Given the description of an element on the screen output the (x, y) to click on. 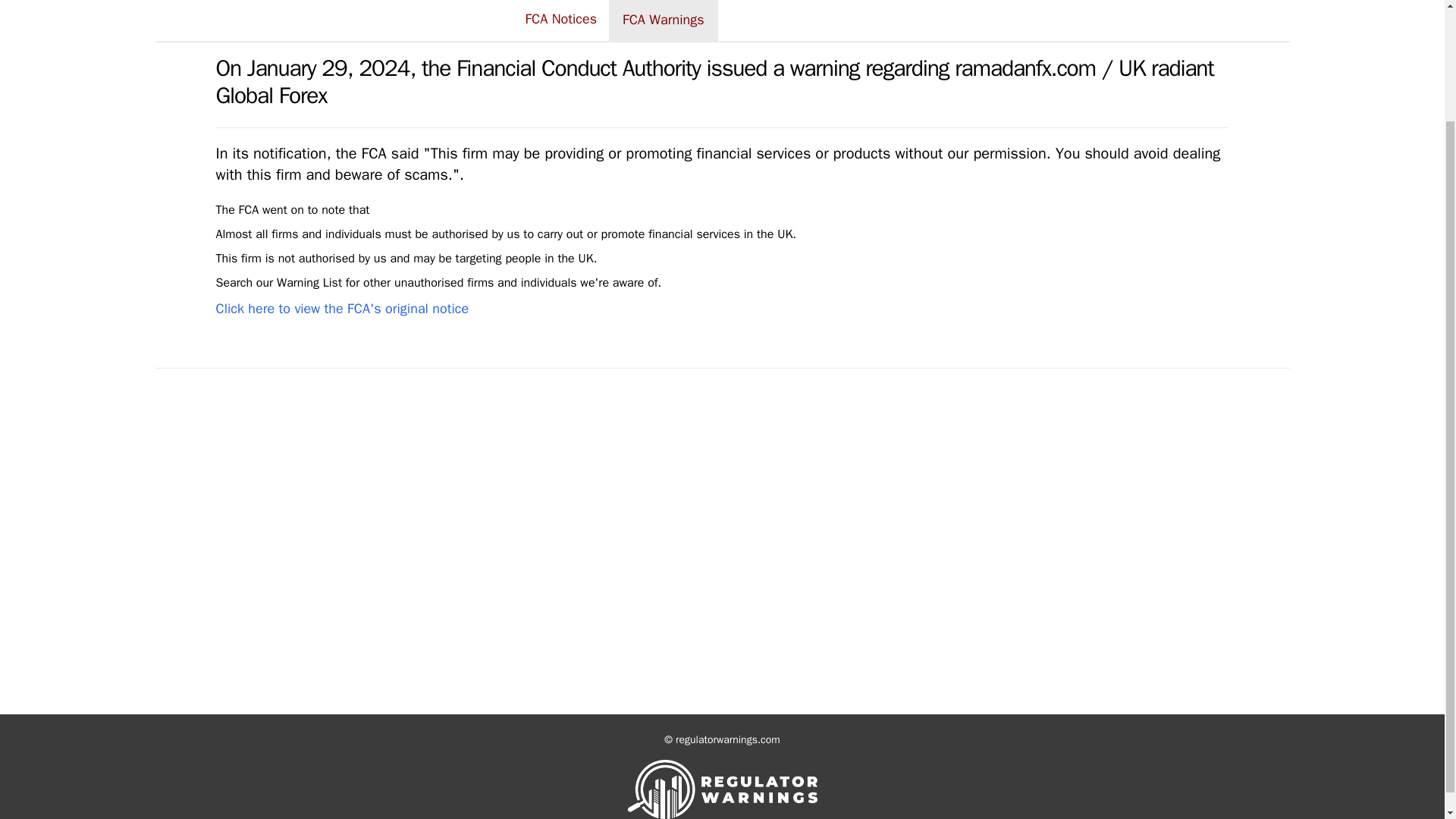
FCA Warnings (662, 20)
FCA Notices (560, 20)
FCA Warning List of unauthorised firms (277, 282)
Click here to view the FCA's original notice (341, 308)
Search our Warning List (277, 282)
